Given the description of an element on the screen output the (x, y) to click on. 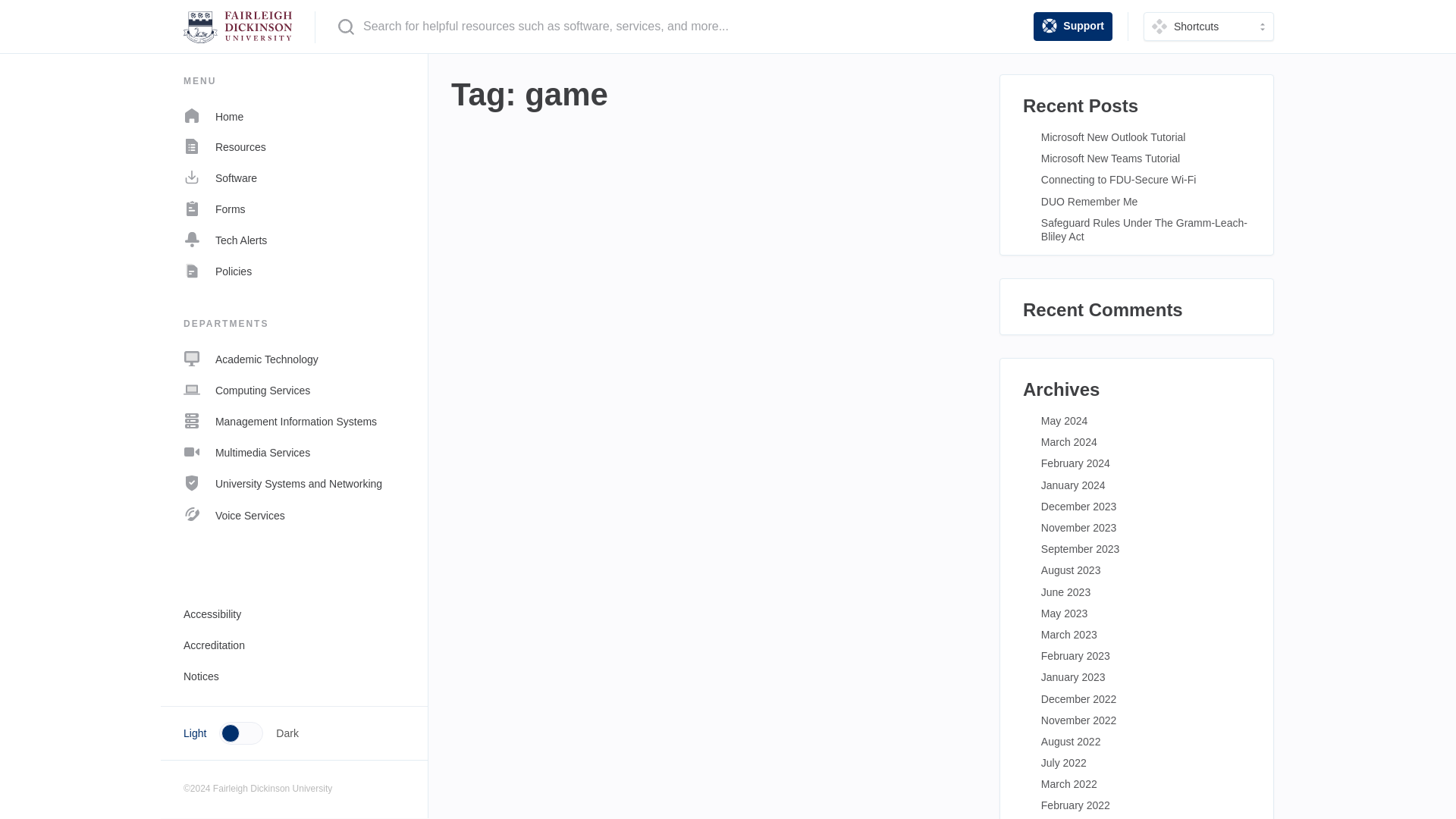
Academic Technology (294, 358)
Multimedia Services (294, 451)
Tag: game (713, 95)
Accreditation (294, 644)
Tech Alerts (294, 239)
Software (294, 177)
Notices (294, 675)
Support (1072, 26)
Policies (294, 270)
University Systems and Networking (294, 483)
Voice Services (294, 514)
Forms (294, 208)
Management Information Systems (294, 420)
Home (294, 115)
Accessibility (294, 613)
